Given the description of an element on the screen output the (x, y) to click on. 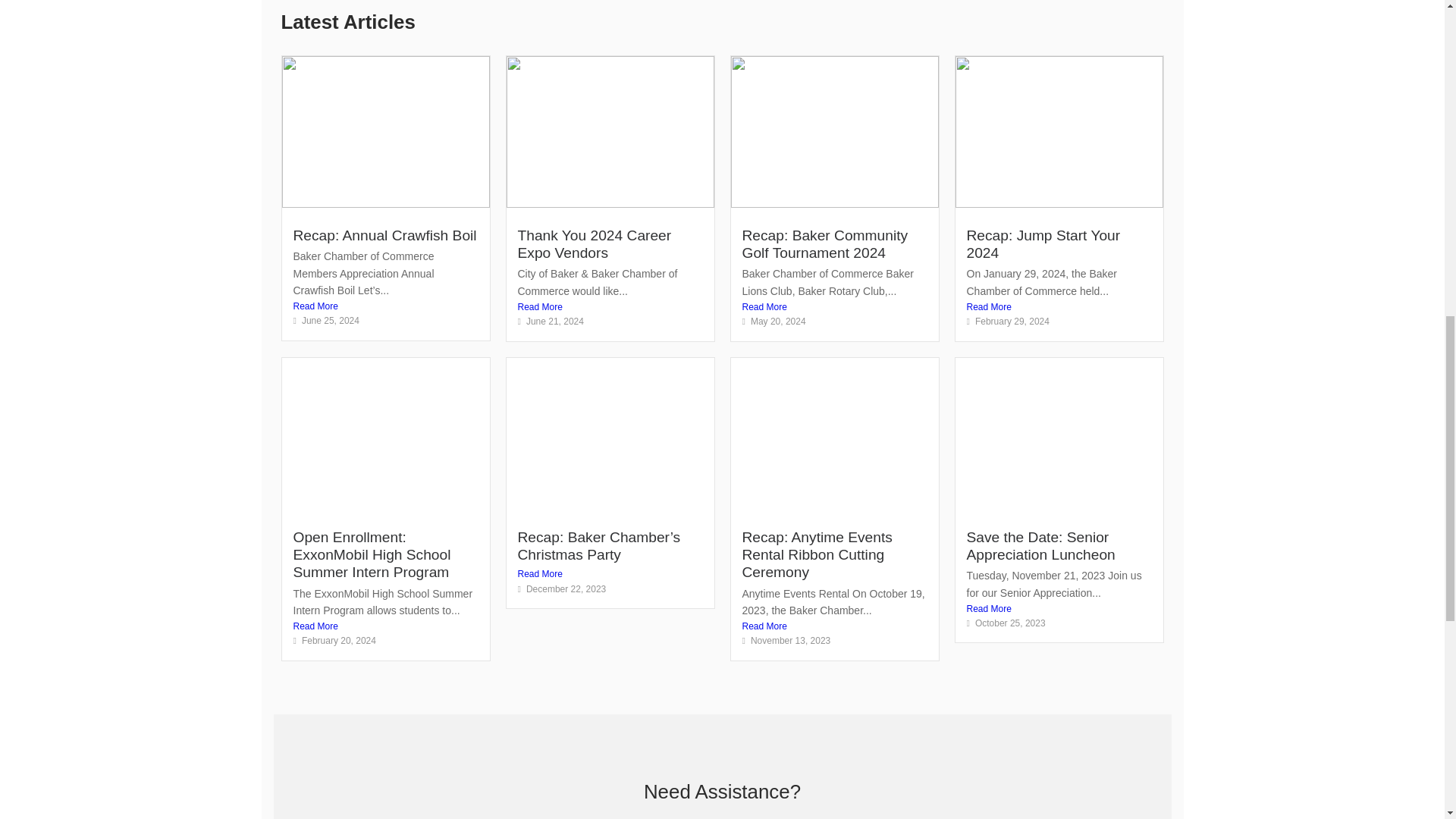
Thank You 2024 Career Expo Vendors (593, 244)
Read More (384, 306)
Recap: Jump Start Your 2024 (1042, 244)
Recap: Annual Crawfish Boil (384, 235)
Save the Date: Senior Appreciation Luncheon (1040, 545)
Recap: Anytime Events Rental Ribbon Cutting Ceremony (816, 554)
Recap: Baker Community Golf Tournament 2024 (824, 244)
Recap: Annual Crawfish Boil (384, 235)
Thank You 2024 Career Expo Vendors (593, 244)
